Given the description of an element on the screen output the (x, y) to click on. 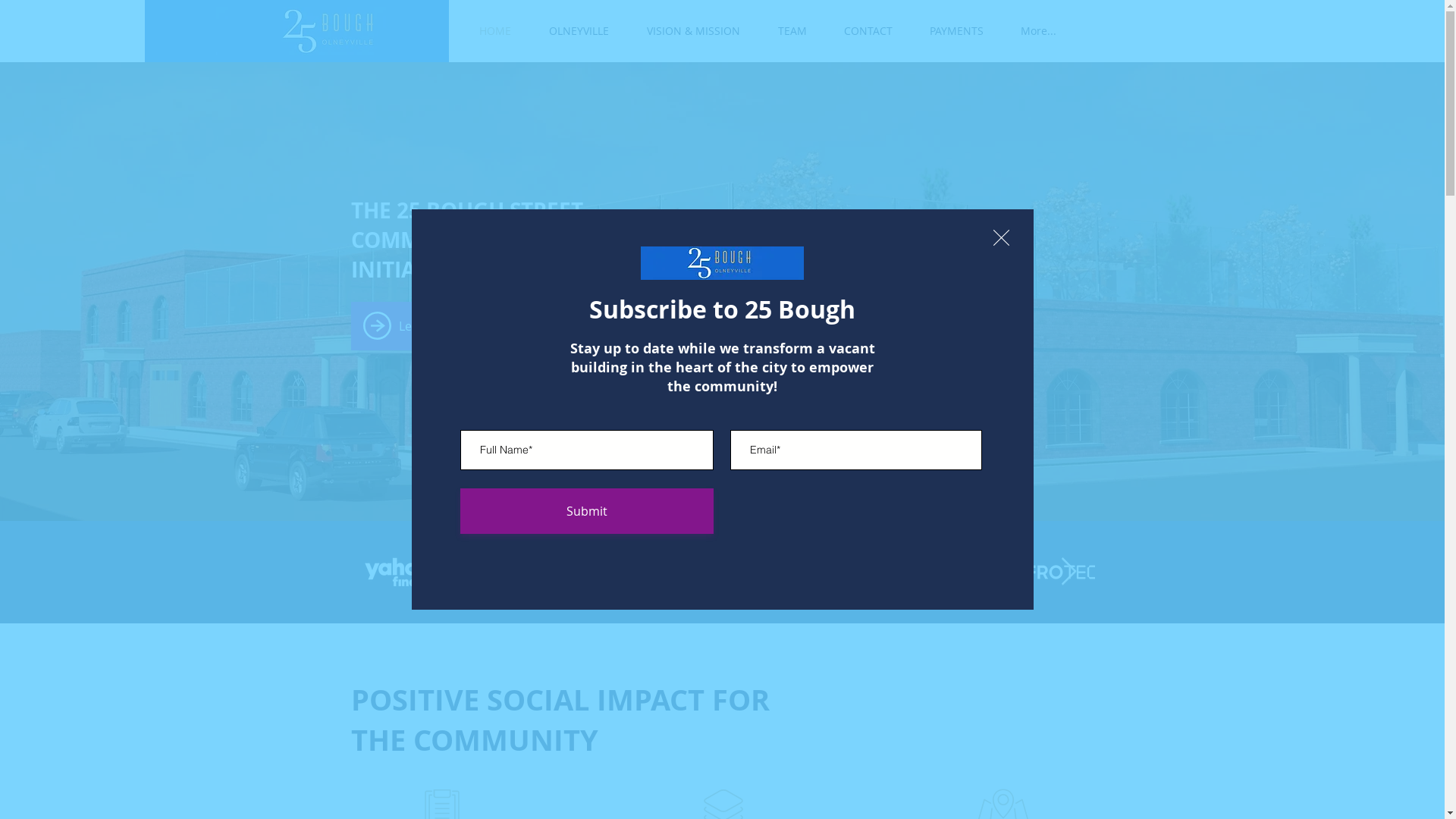
HOME Element type: text (494, 30)
VISION & MISSION Element type: text (693, 30)
CONTACT Element type: text (867, 30)
PAYMENTS Element type: text (956, 30)
Learn More Element type: text (430, 325)
Submit Element type: text (585, 510)
TEAM Element type: text (791, 30)
Back to site Element type: hover (1001, 237)
OLNEYVILLE Element type: text (578, 30)
